Given the description of an element on the screen output the (x, y) to click on. 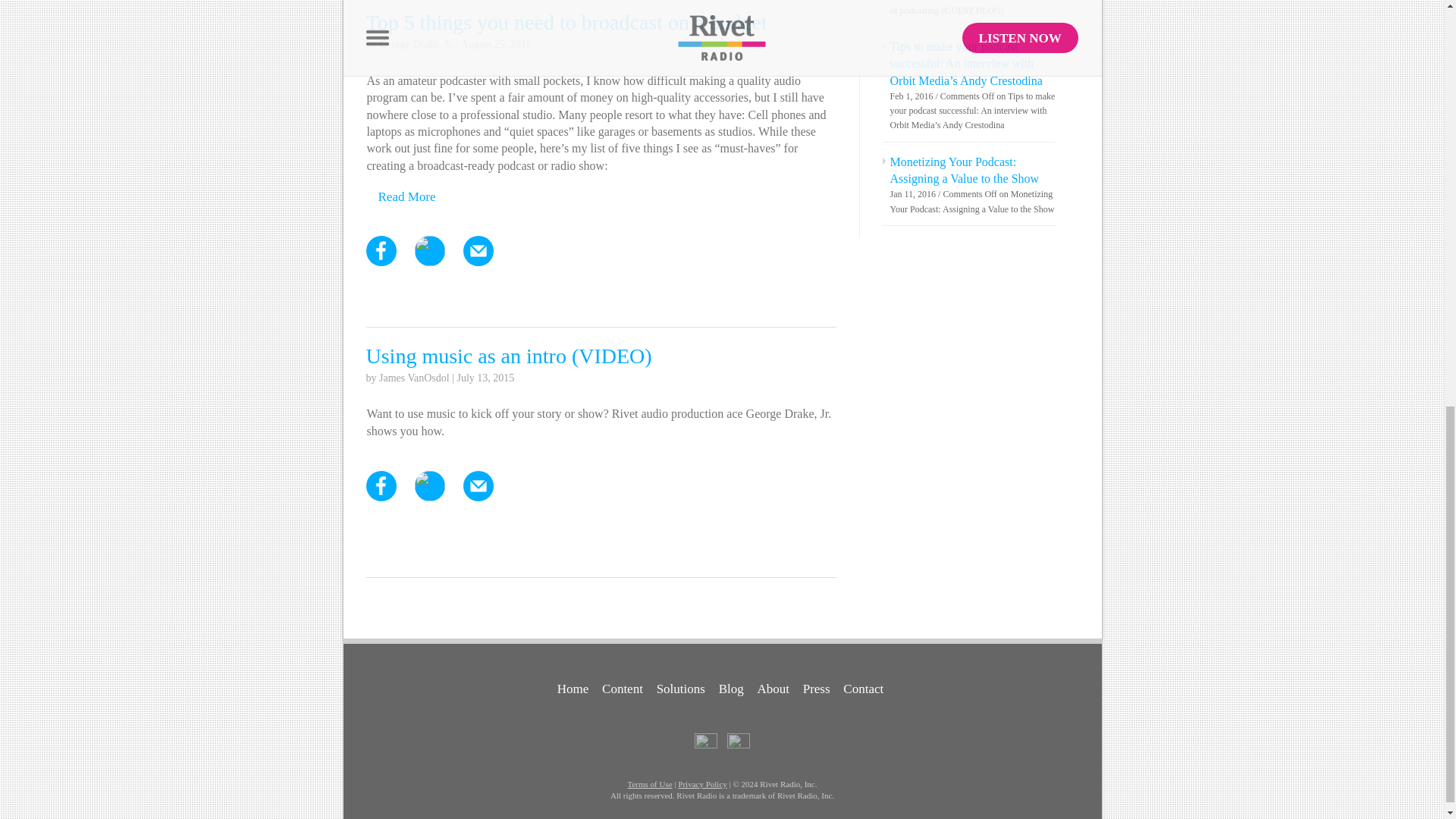
Read More (406, 196)
Top 5 things you need to broadcast on a budget (566, 22)
Monetizing Your Podcast: Assigning a Value to the Show (964, 170)
